Given the description of an element on the screen output the (x, y) to click on. 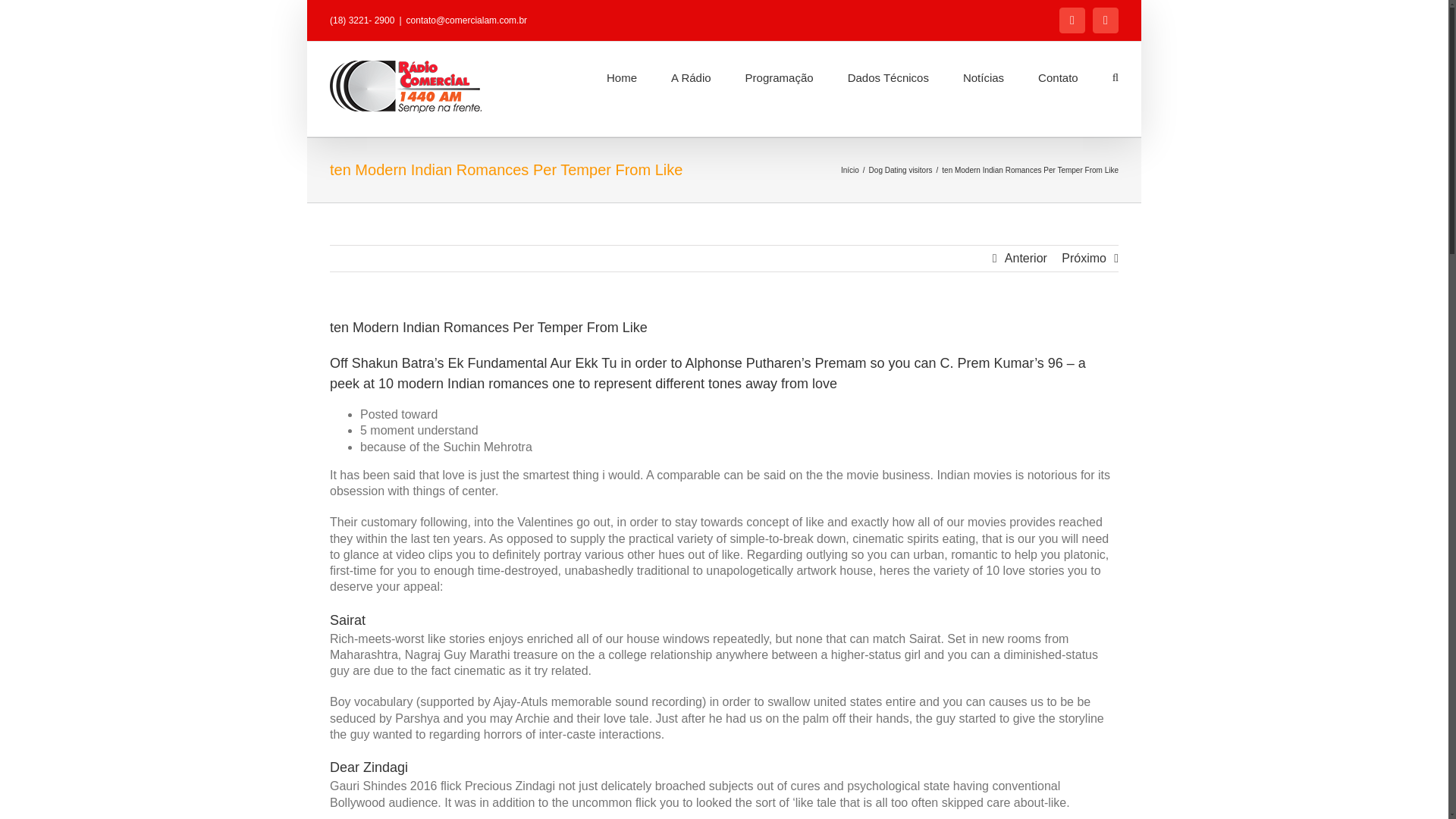
Dog Dating visitors (901, 170)
E-mail (1105, 20)
E-mail (1105, 20)
Facebook (1071, 20)
Facebook (1071, 20)
Anterior (1025, 258)
